Given the description of an element on the screen output the (x, y) to click on. 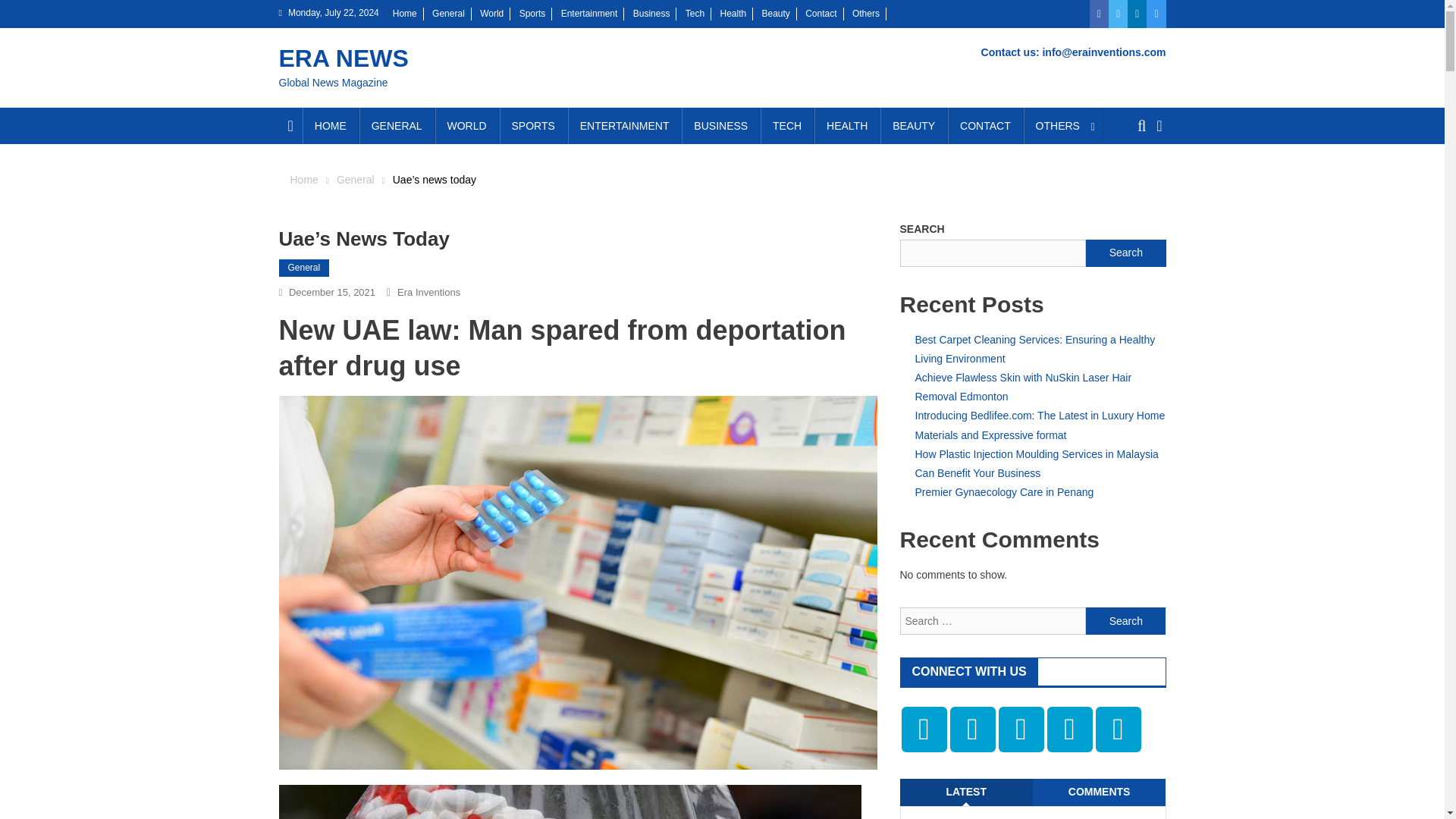
Entertainment (588, 13)
Contact (820, 13)
General (448, 13)
BEAUTY (913, 125)
Sports (532, 13)
Business (651, 13)
CONTACT (985, 125)
OTHERS (1063, 125)
Home (303, 179)
Home (404, 13)
TECH (786, 125)
Social Media Icons (971, 729)
HOME (330, 125)
HEALTH (846, 125)
World (491, 13)
